Given the description of an element on the screen output the (x, y) to click on. 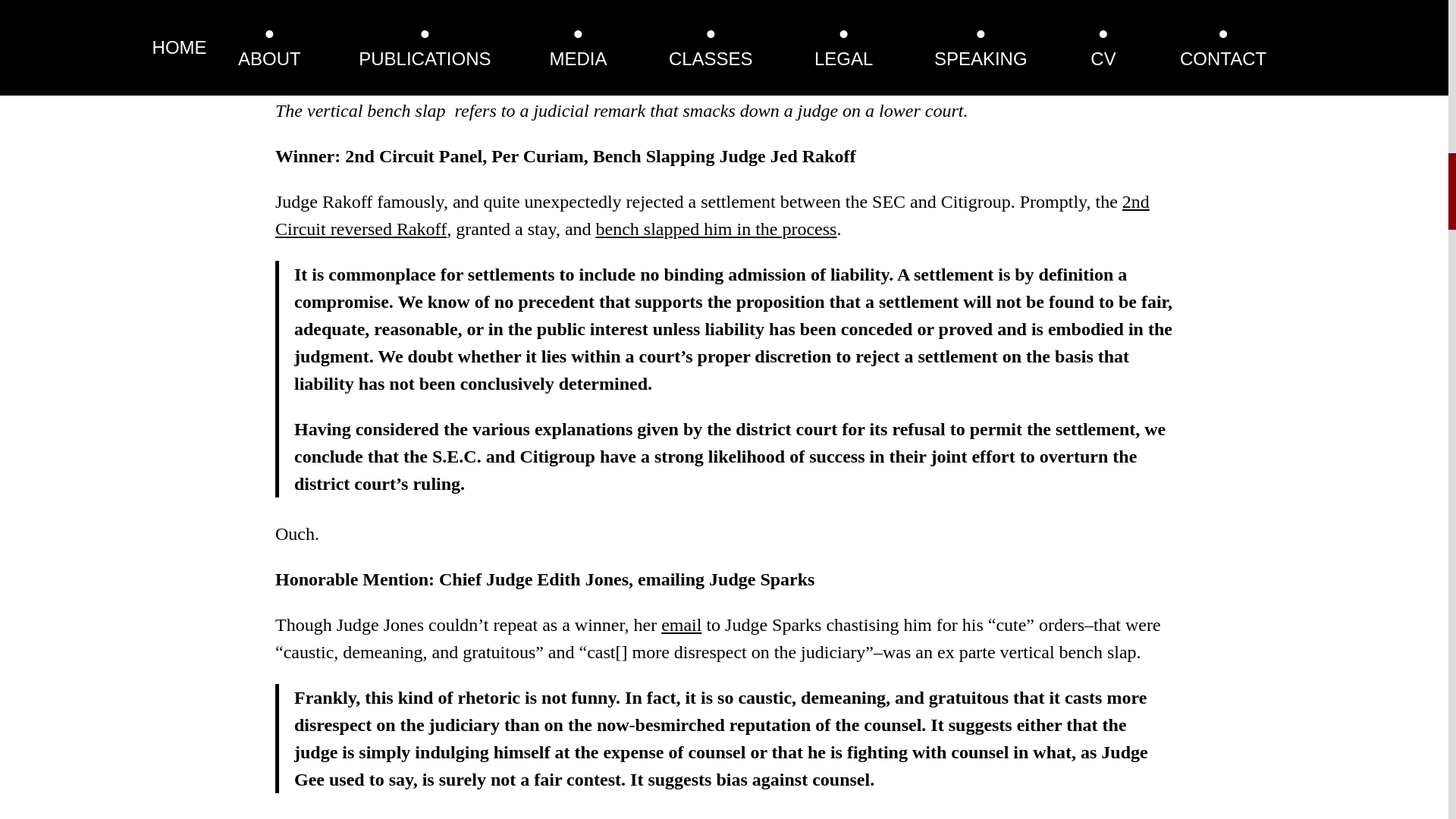
bench slapped him in the process (716, 229)
email (681, 624)
2nd Circuit reversed Rakoff (712, 215)
